Given the description of an element on the screen output the (x, y) to click on. 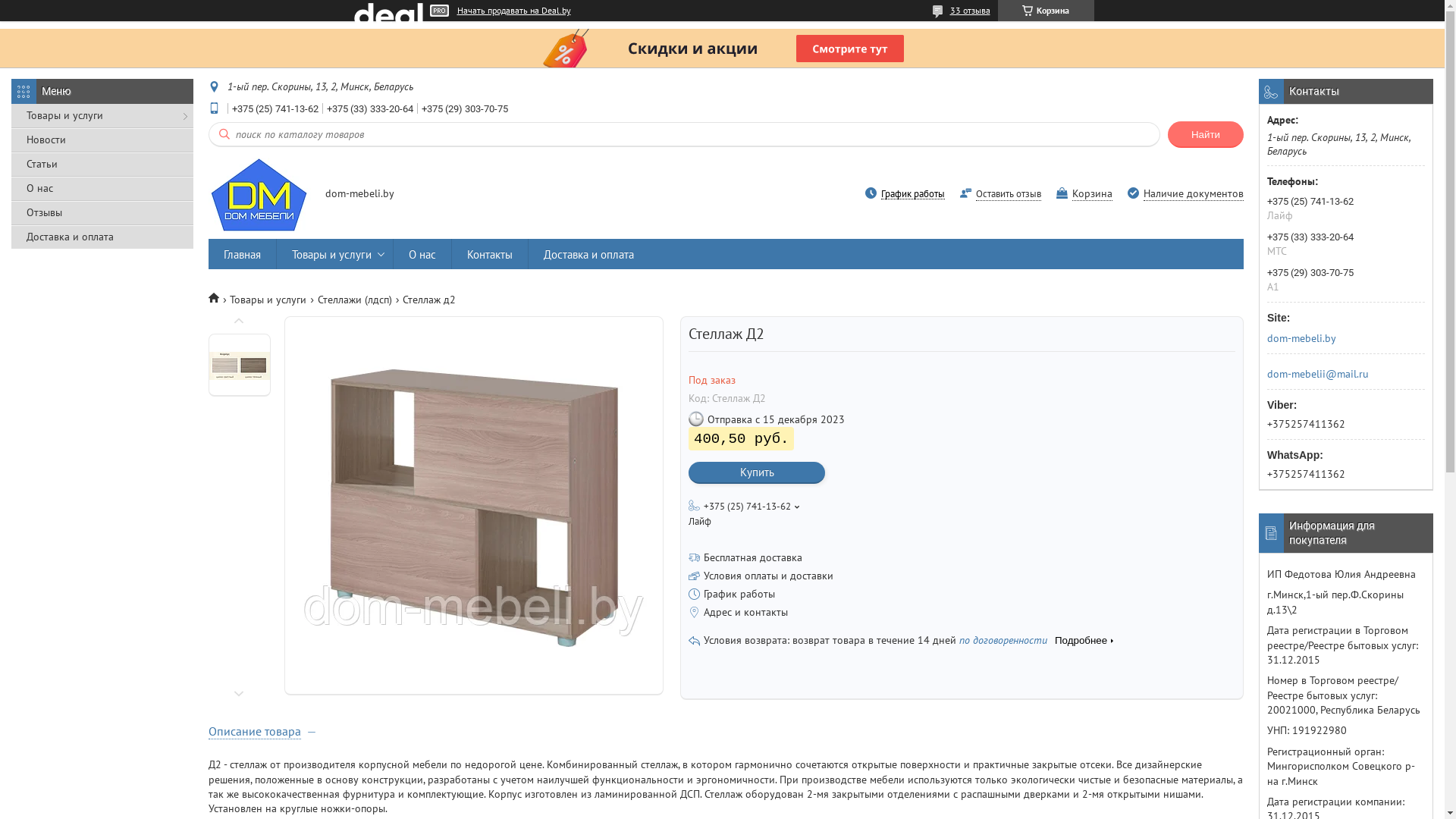
dom-mebelii@mail.ru Element type: text (1317, 373)
dom-mebeli.by Element type: text (1341, 337)
